Given the description of an element on the screen output the (x, y) to click on. 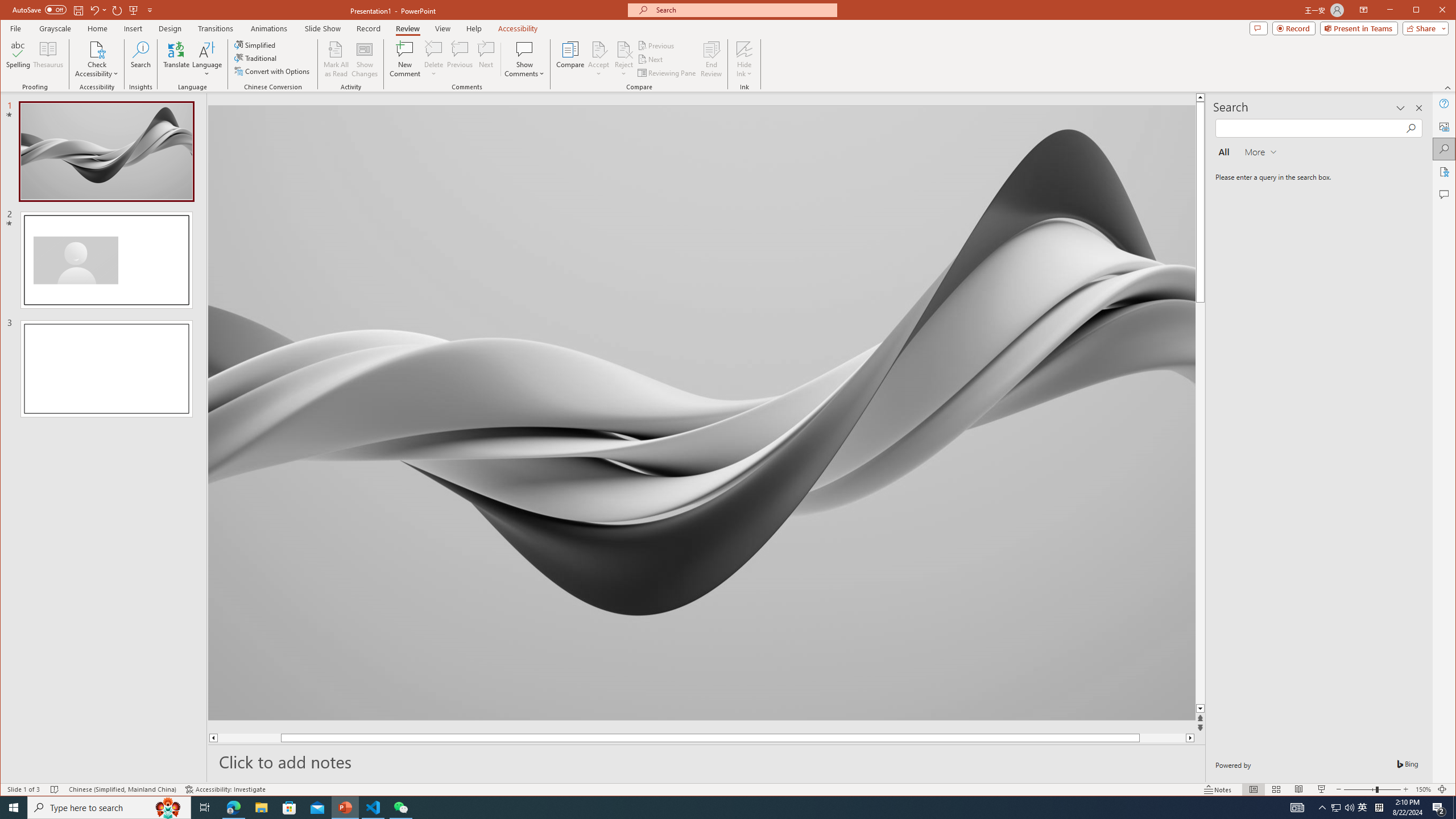
Reject (623, 59)
